Given the description of an element on the screen output the (x, y) to click on. 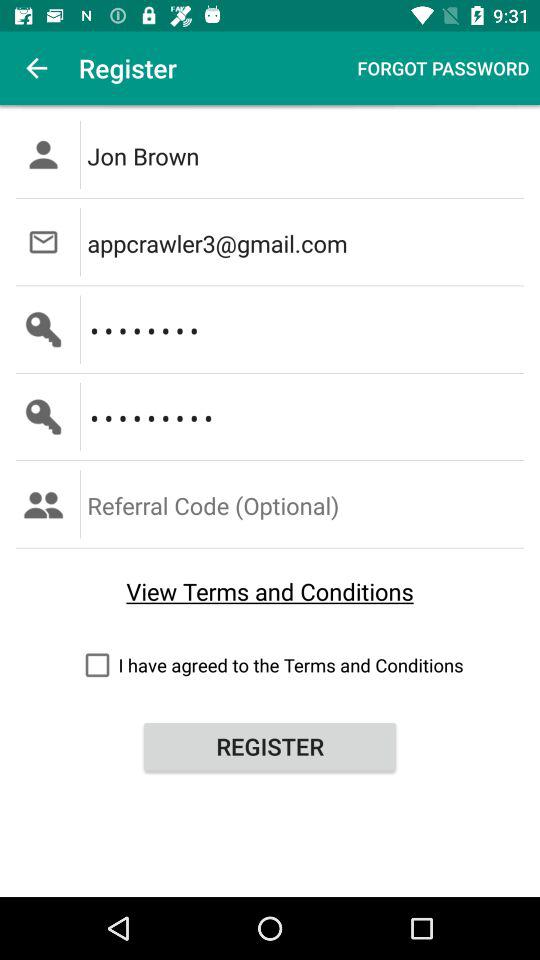
flip until the i have agreed item (269, 664)
